Given the description of an element on the screen output the (x, y) to click on. 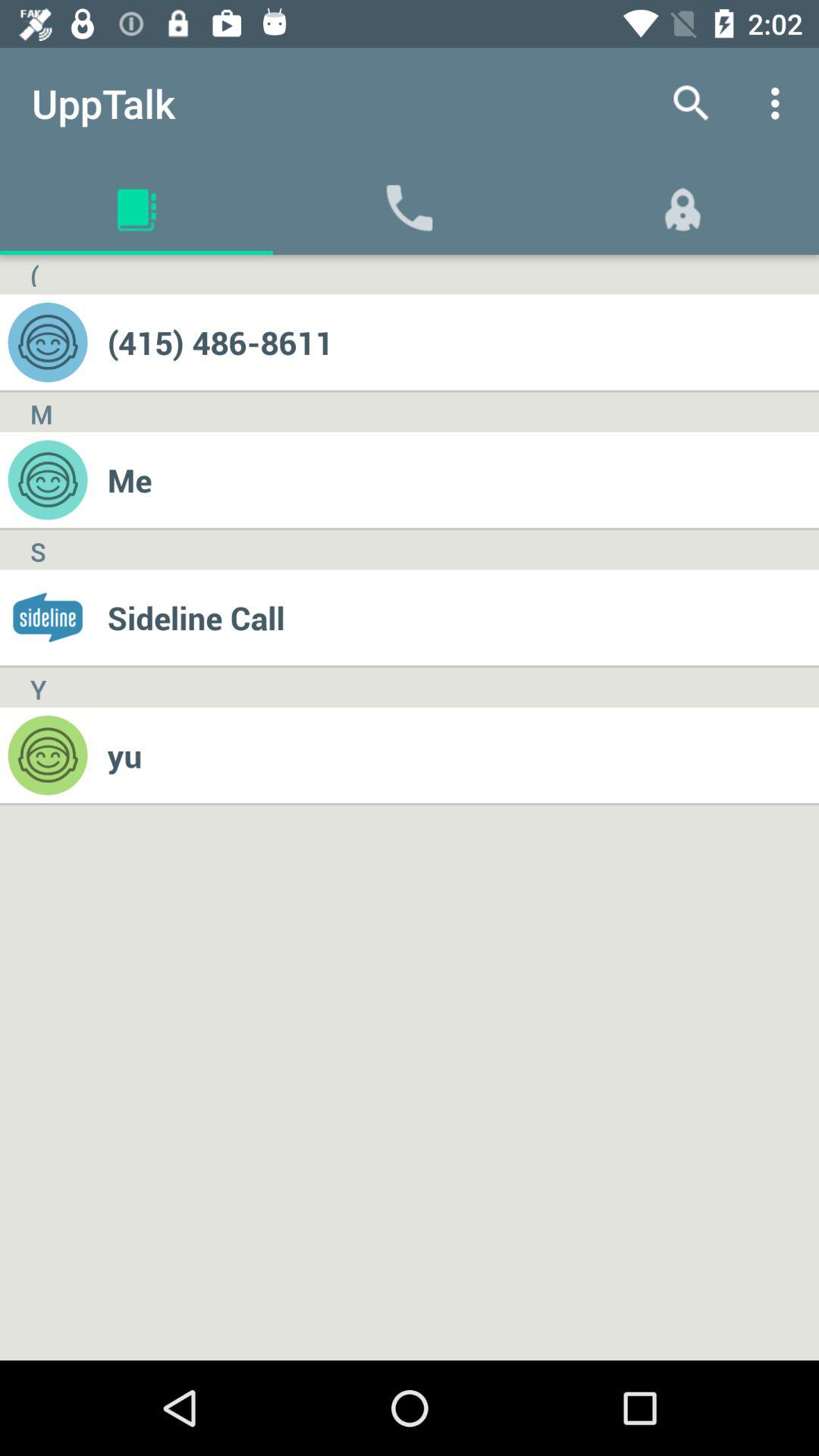
flip until the m icon (41, 412)
